Given the description of an element on the screen output the (x, y) to click on. 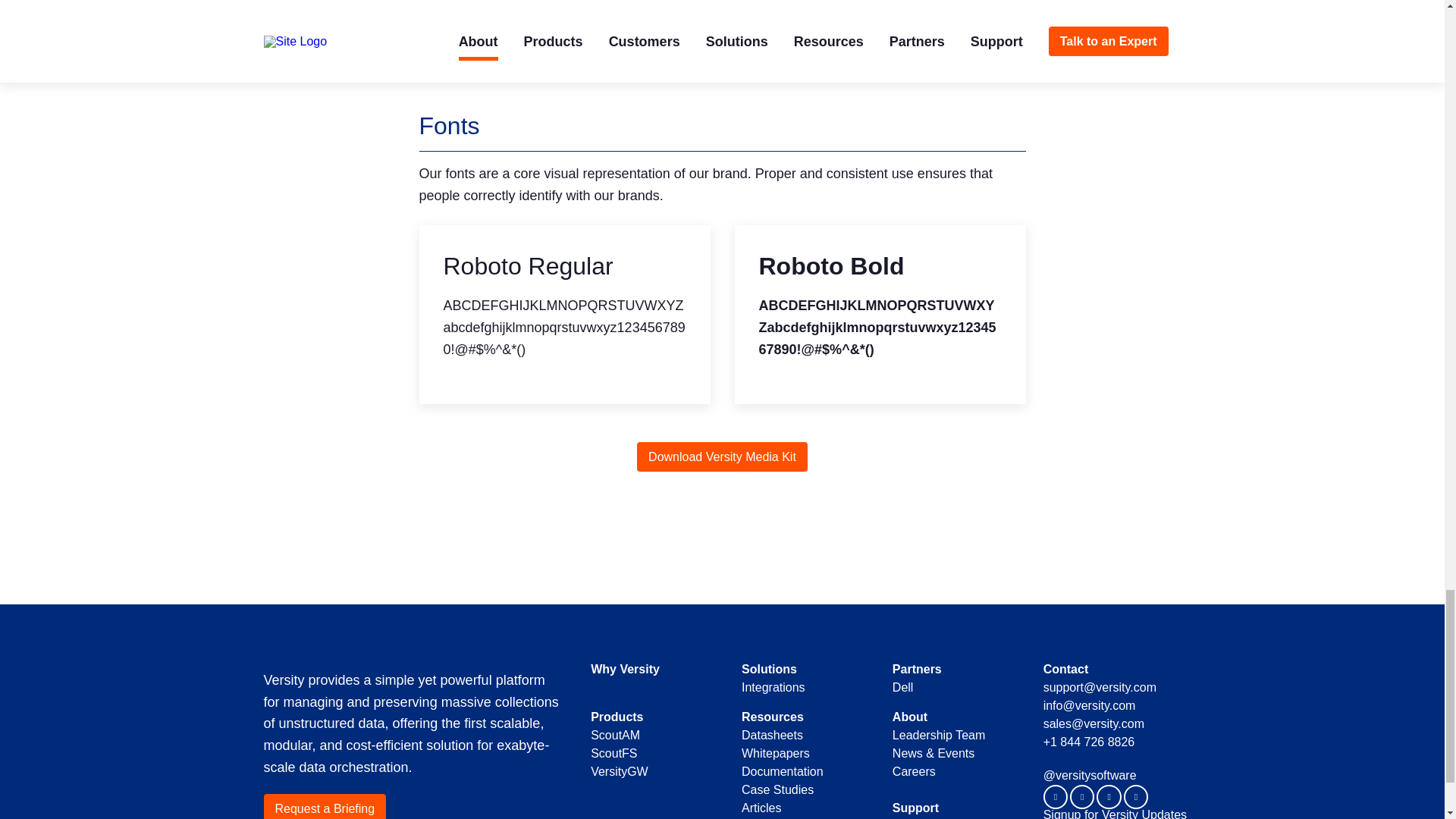
Instagram (1136, 796)
X (1082, 796)
Linkedin (1055, 796)
Facebook (1108, 796)
